Given the description of an element on the screen output the (x, y) to click on. 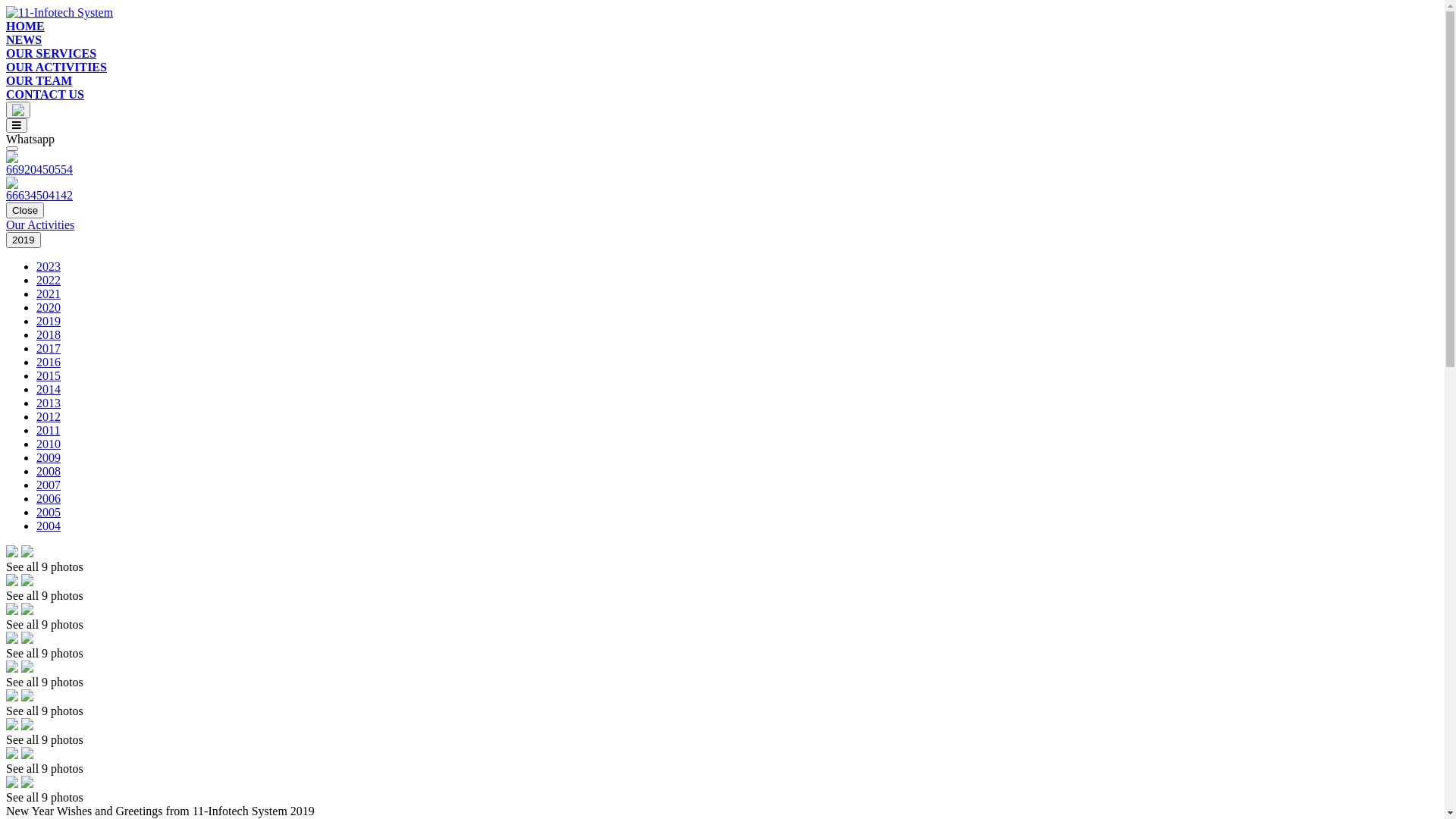
OUR ACTIVITIES Element type: text (56, 66)
2007 Element type: text (48, 484)
2019 Element type: text (48, 320)
NEWS Element type: text (23, 39)
Close Element type: text (24, 210)
2013 Element type: text (48, 402)
2014 Element type: text (48, 388)
2022 Element type: text (48, 279)
2011 Element type: text (47, 429)
HOME Element type: text (25, 25)
CONTACT US Element type: text (45, 93)
2008 Element type: text (48, 470)
Our Activities Element type: text (40, 224)
2017 Element type: text (48, 348)
2012 Element type: text (48, 416)
2018 Element type: text (48, 334)
2023 Element type: text (48, 266)
OUR SERVICES Element type: text (51, 53)
2006 Element type: text (48, 498)
2004 Element type: text (48, 525)
2005 Element type: text (48, 511)
OUR TEAM Element type: text (39, 80)
66634504142 Element type: text (722, 189)
2016 Element type: text (48, 361)
2020 Element type: text (48, 307)
2019 Element type: text (23, 239)
2009 Element type: text (48, 457)
2015 Element type: text (48, 375)
2021 Element type: text (48, 293)
2010 Element type: text (48, 443)
66920450554 Element type: text (722, 163)
